Given the description of an element on the screen output the (x, y) to click on. 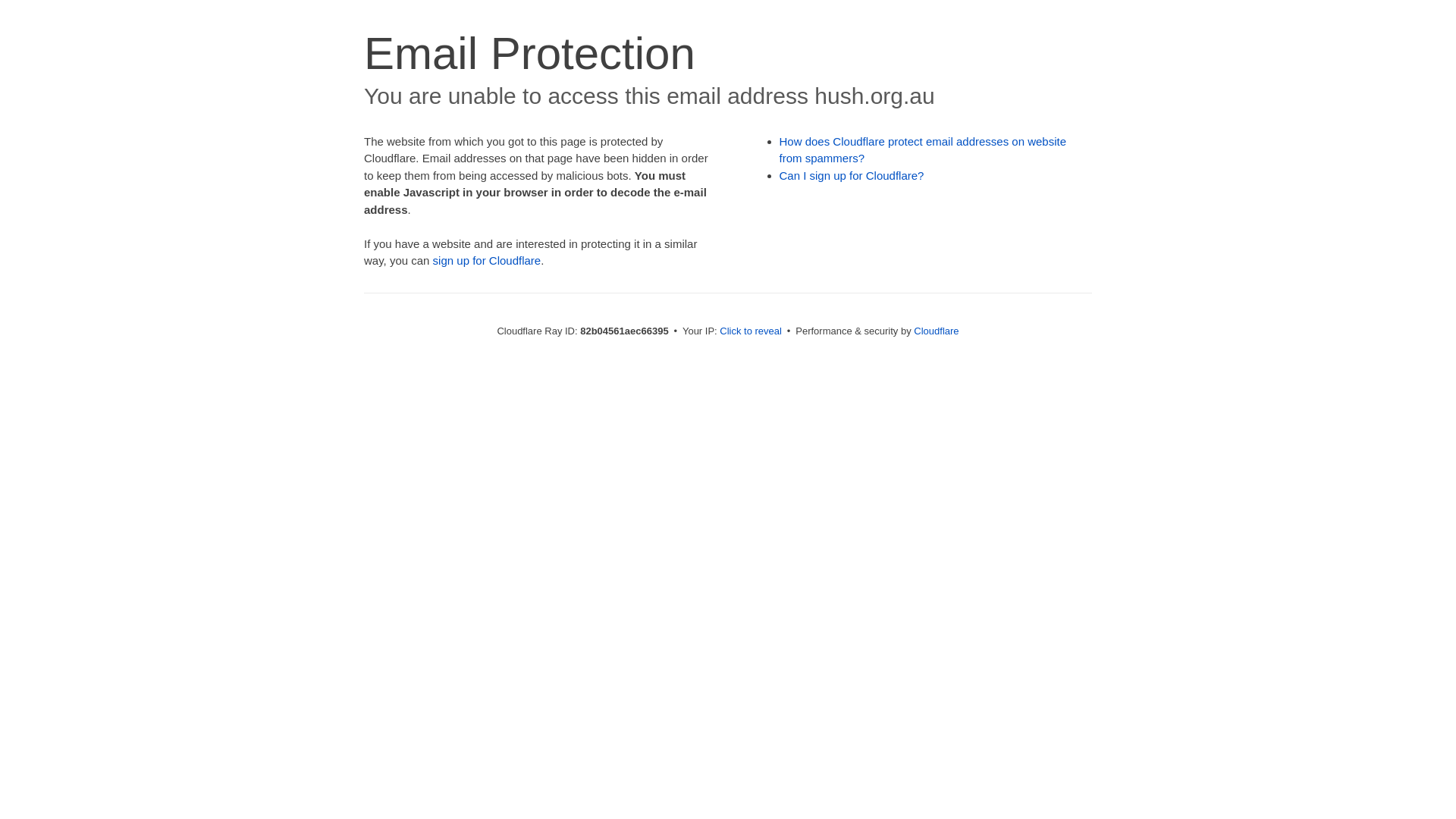
sign up for Cloudflare Element type: text (487, 260)
Cloudflare Element type: text (935, 330)
Click to reveal Element type: text (750, 330)
Can I sign up for Cloudflare? Element type: text (851, 175)
